Given the description of an element on the screen output the (x, y) to click on. 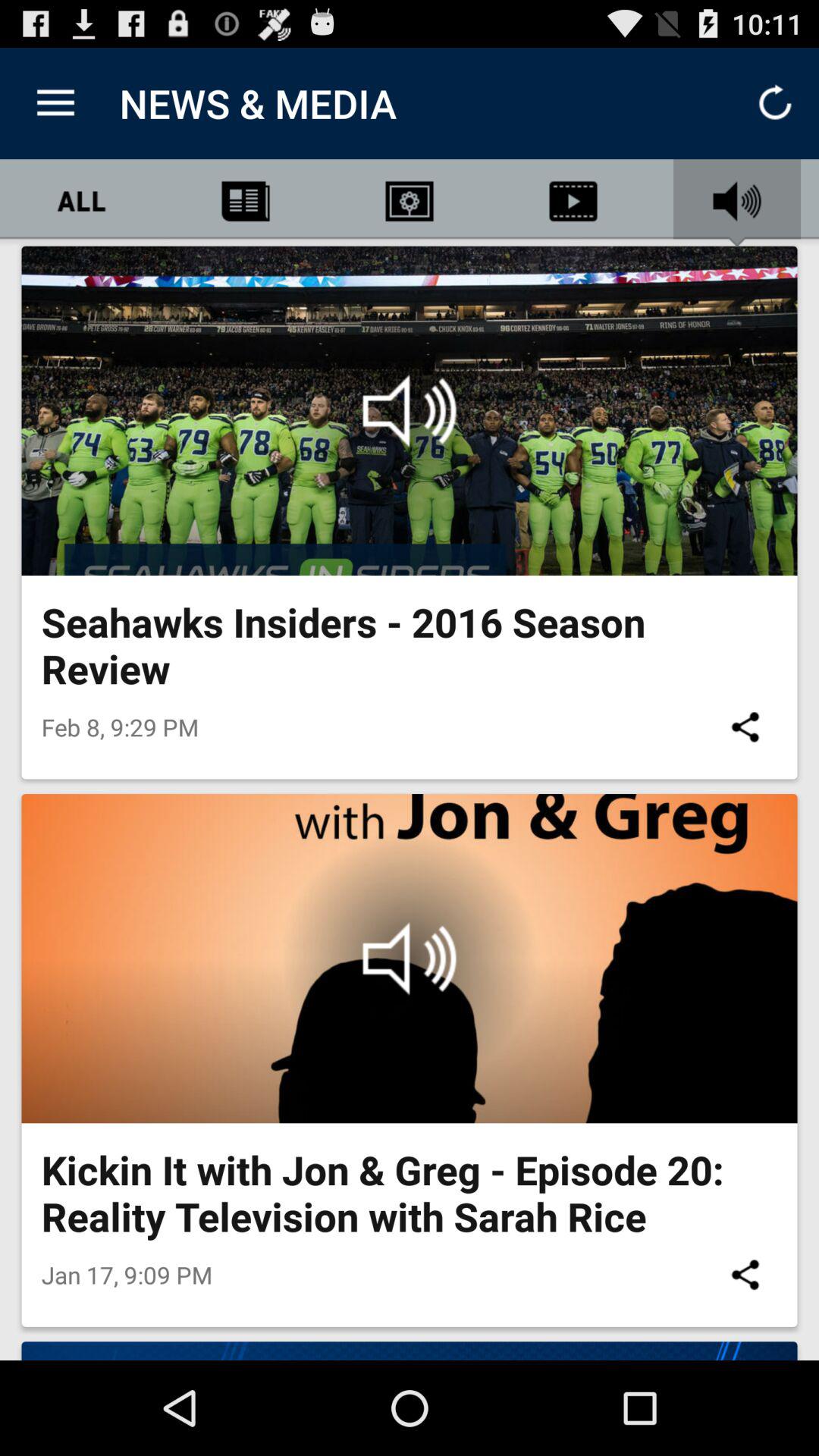
go to refresh icon (775, 103)
click second option next to all (409, 201)
click on the video icon below news  media (573, 201)
select the second video clip kickin it with jon and greg (409, 957)
